Given the description of an element on the screen output the (x, y) to click on. 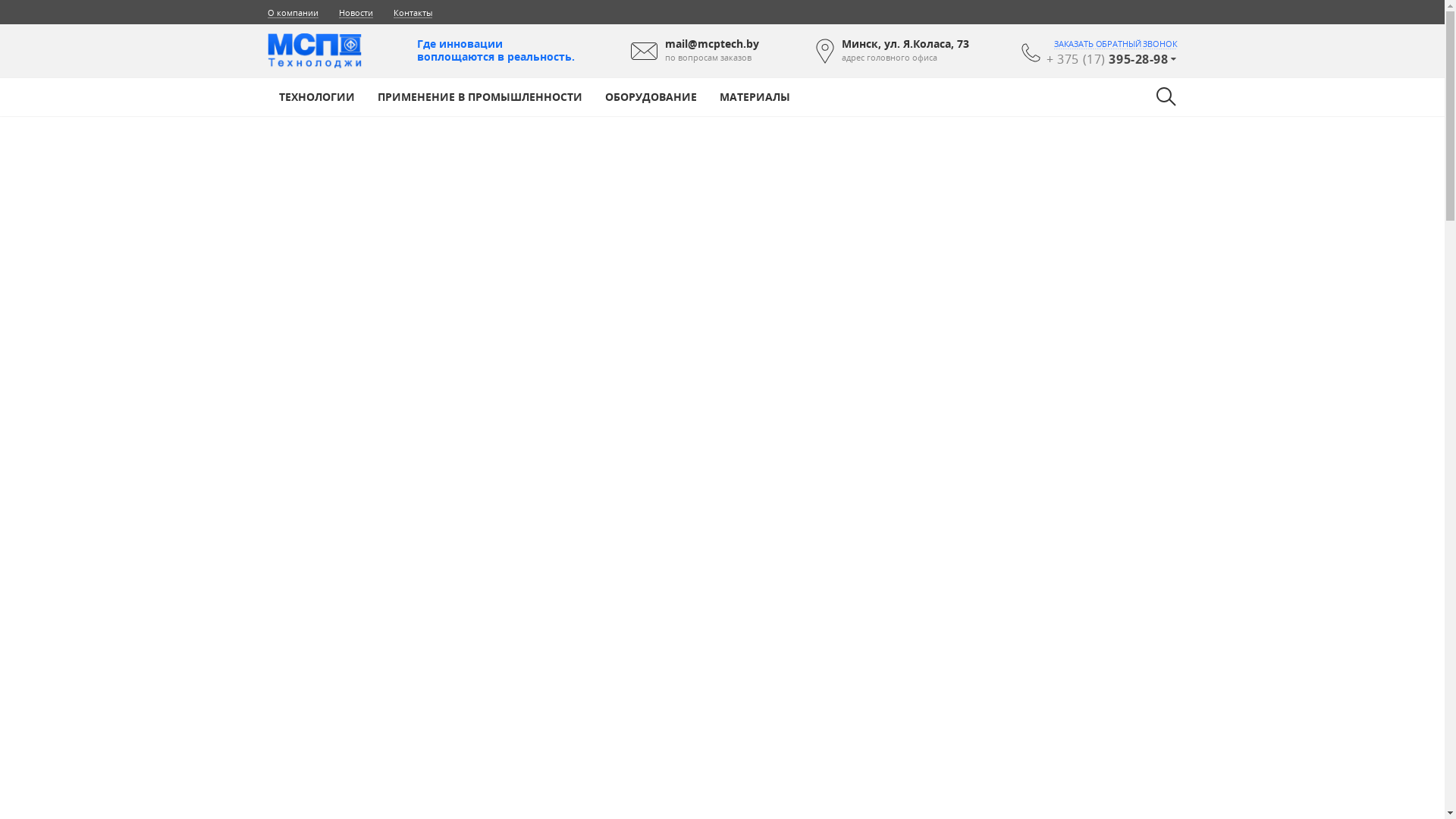
mail@mcptech.by Element type: text (712, 43)
